Given the description of an element on the screen output the (x, y) to click on. 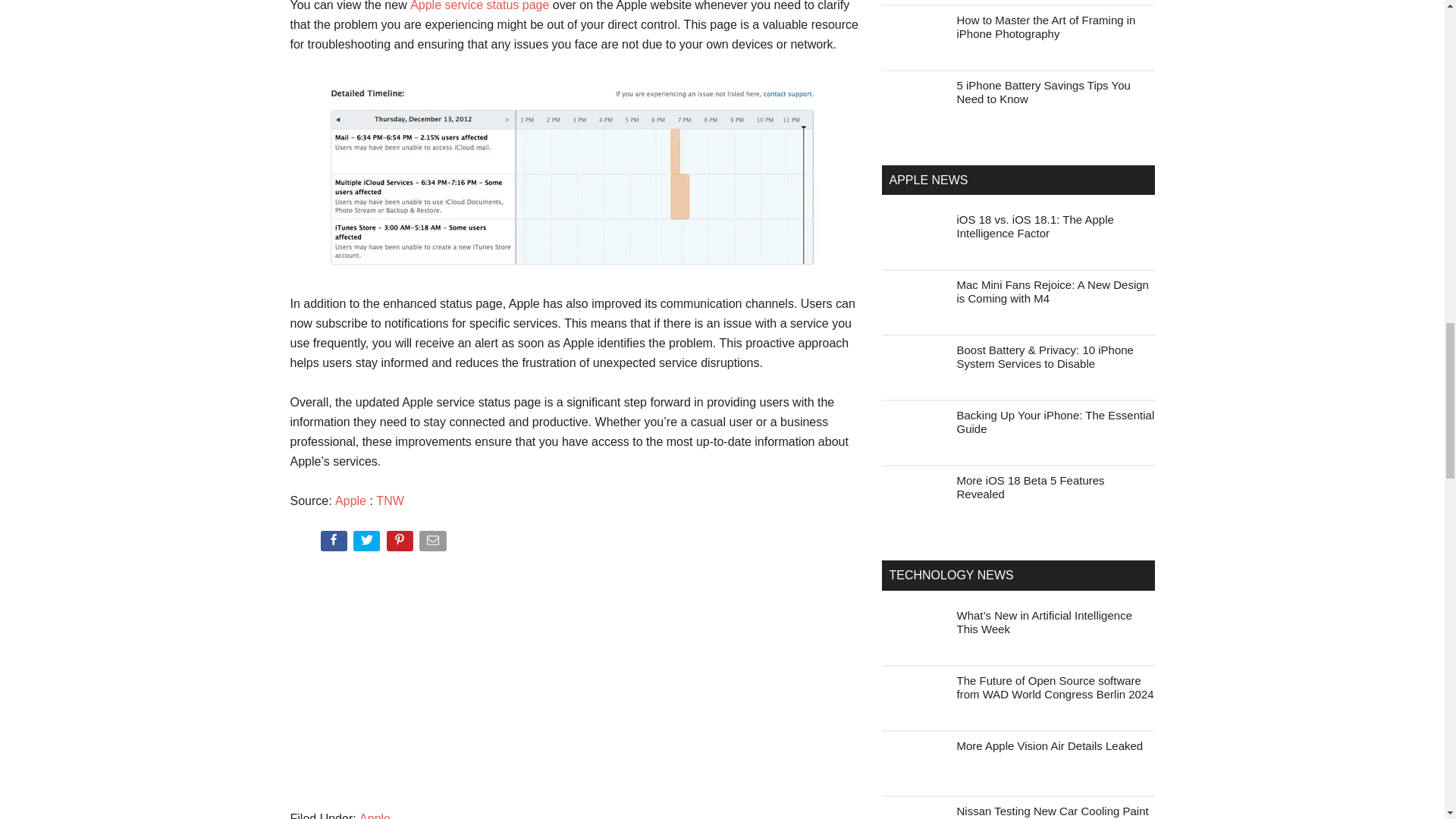
Apple (374, 815)
Apple service status page (479, 5)
Email (433, 543)
TNW (389, 500)
Tweet (367, 543)
Apple (350, 500)
Pin (401, 543)
Share on Facebook (334, 543)
